Given the description of an element on the screen output the (x, y) to click on. 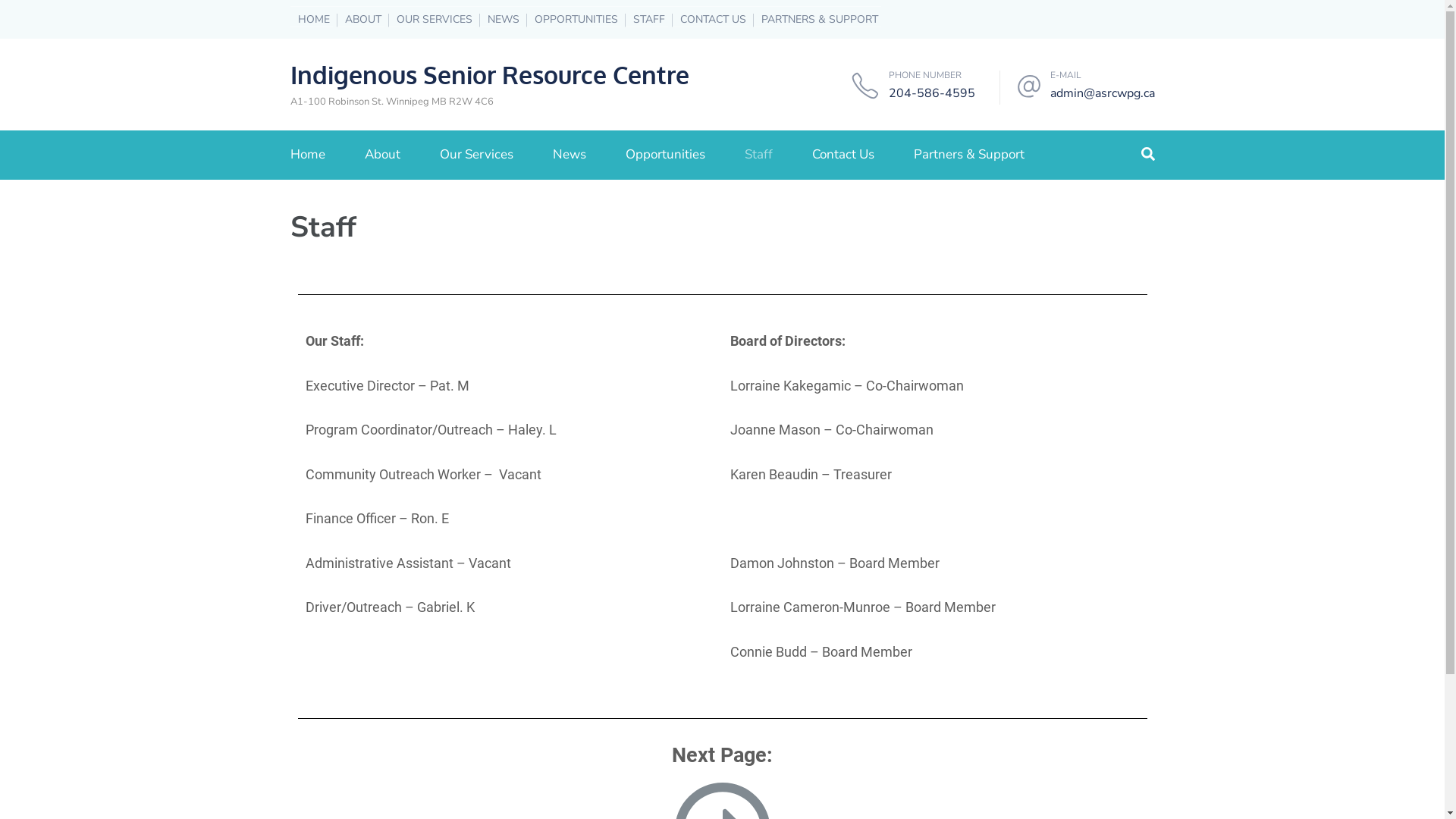
PARTNERS & SUPPORT Element type: text (815, 19)
Our Services Element type: text (476, 154)
News Element type: text (568, 154)
About Element type: text (381, 154)
204-586-4595 Element type: text (931, 92)
OUR SERVICES Element type: text (429, 19)
OPPORTUNITIES Element type: text (571, 19)
NEWS Element type: text (498, 19)
CONTACT US Element type: text (708, 19)
Staff Element type: text (758, 154)
Partners & Support Element type: text (968, 154)
ABOUT Element type: text (358, 19)
HOME Element type: text (309, 19)
admin@asrcwpg.ca Element type: text (1101, 92)
Contact Us Element type: text (842, 154)
Indigenous Senior Resource Centre Element type: text (488, 74)
Opportunities Element type: text (664, 154)
Home Element type: text (306, 154)
STAFF Element type: text (644, 19)
